Given the description of an element on the screen output the (x, y) to click on. 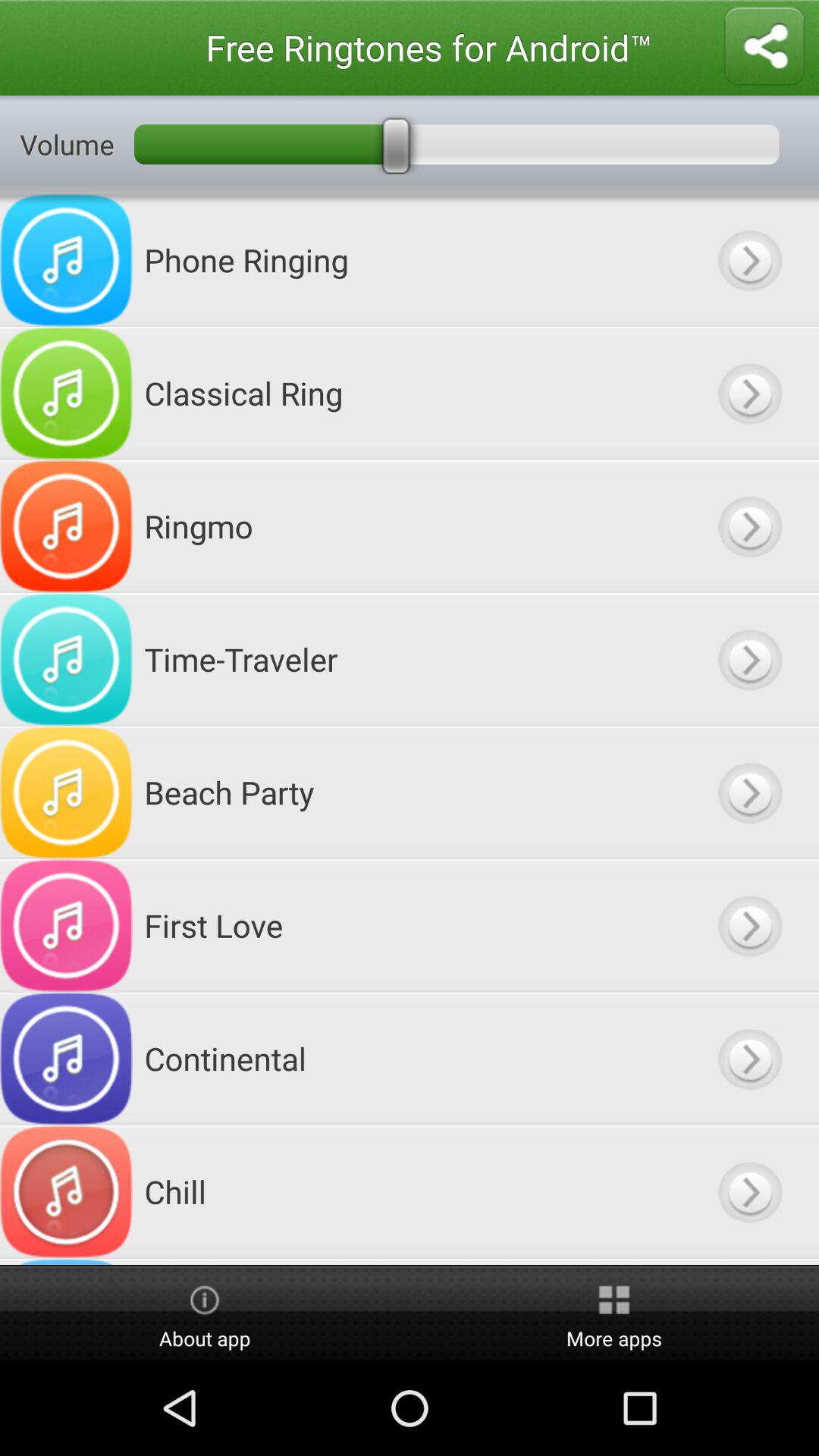
go to play (749, 1191)
